Given the description of an element on the screen output the (x, y) to click on. 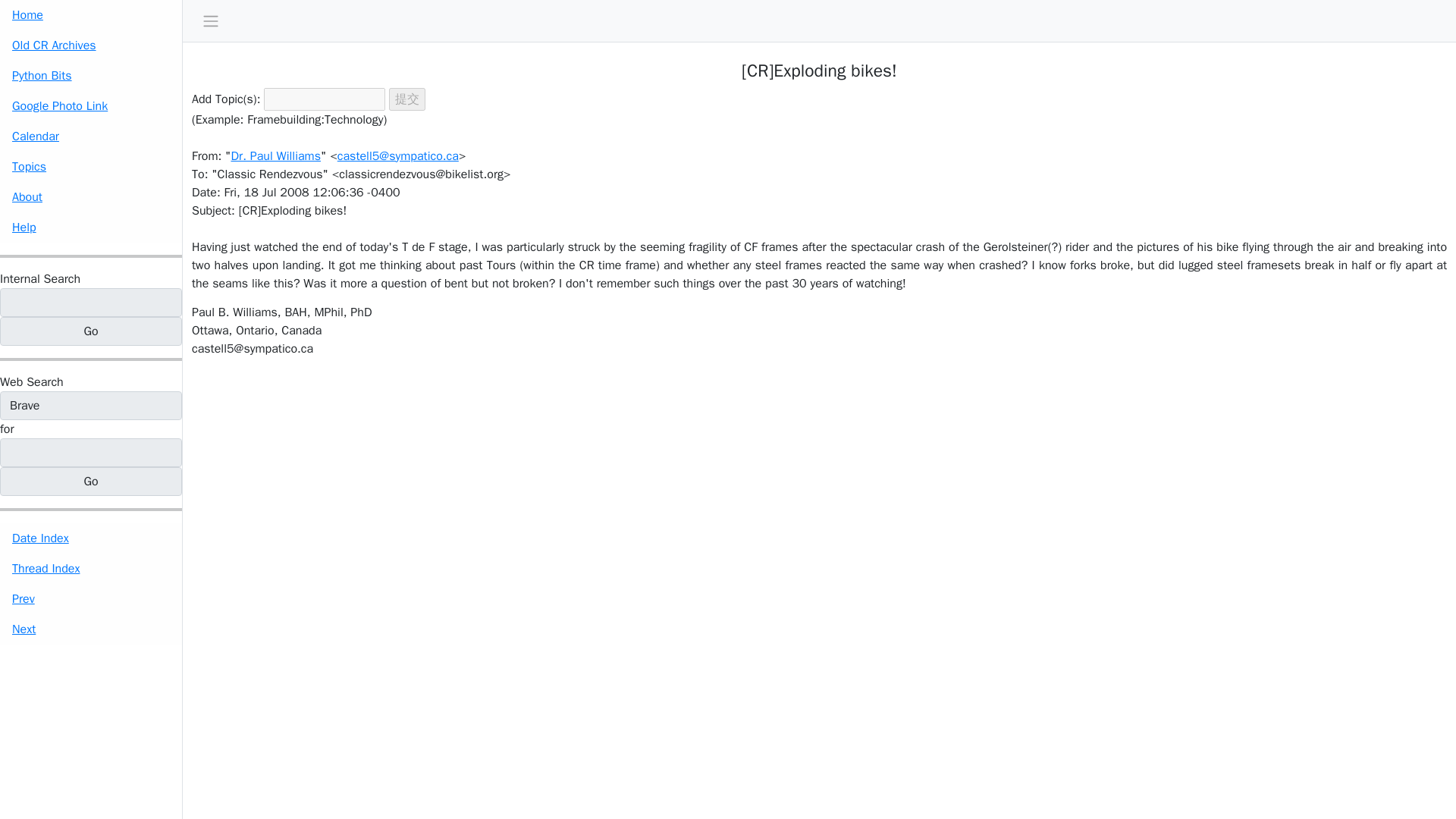
Home (91, 15)
Go (91, 481)
Go (91, 330)
Google Photo Link (91, 105)
Python Bits (91, 75)
Enter a word or phrase to search the archive. (40, 279)
Calendar (91, 136)
Thread Index (91, 568)
Date Index (91, 538)
Go (91, 330)
